Given the description of an element on the screen output the (x, y) to click on. 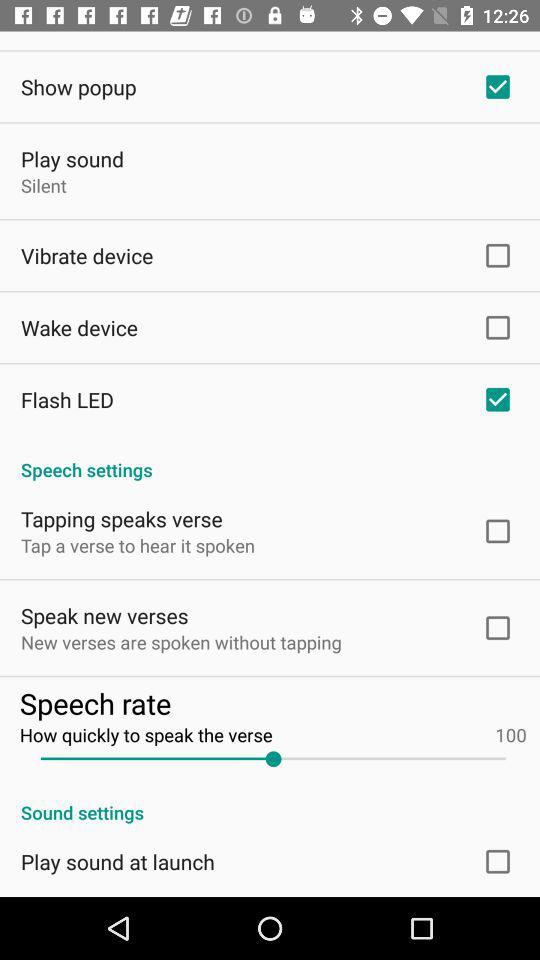
scroll until the show popup app (78, 86)
